Given the description of an element on the screen output the (x, y) to click on. 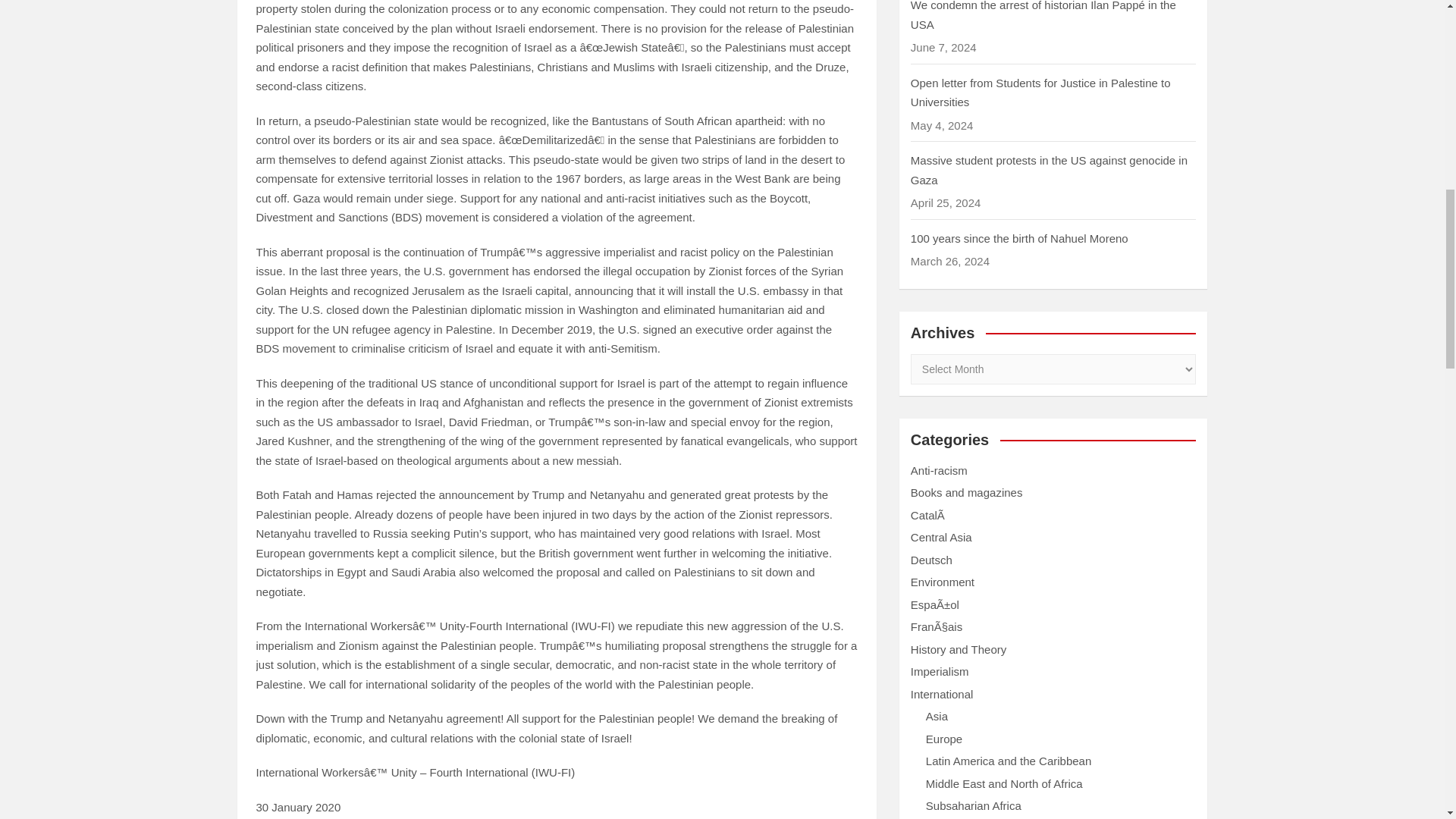
100 years since the birth of Nahuel Moreno (1019, 237)
Anti-racism (939, 470)
Massive student protests in the US against genocide in Gaza (1049, 169)
